Given the description of an element on the screen output the (x, y) to click on. 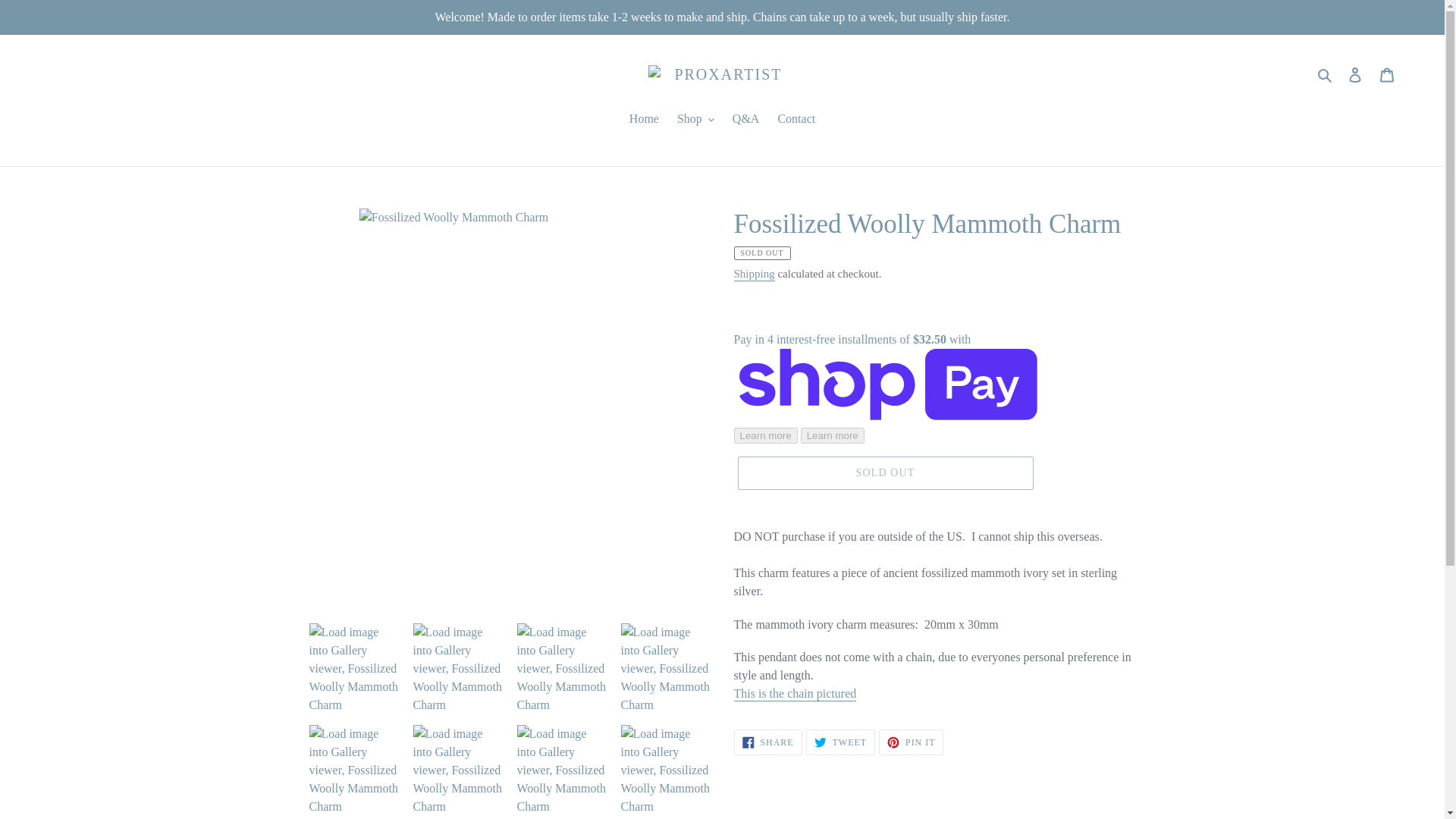
Search (1326, 74)
Shop (695, 119)
Home (643, 119)
Contact (796, 119)
Cart (1387, 73)
Log in (1355, 73)
Shipping (753, 274)
